Given the description of an element on the screen output the (x, y) to click on. 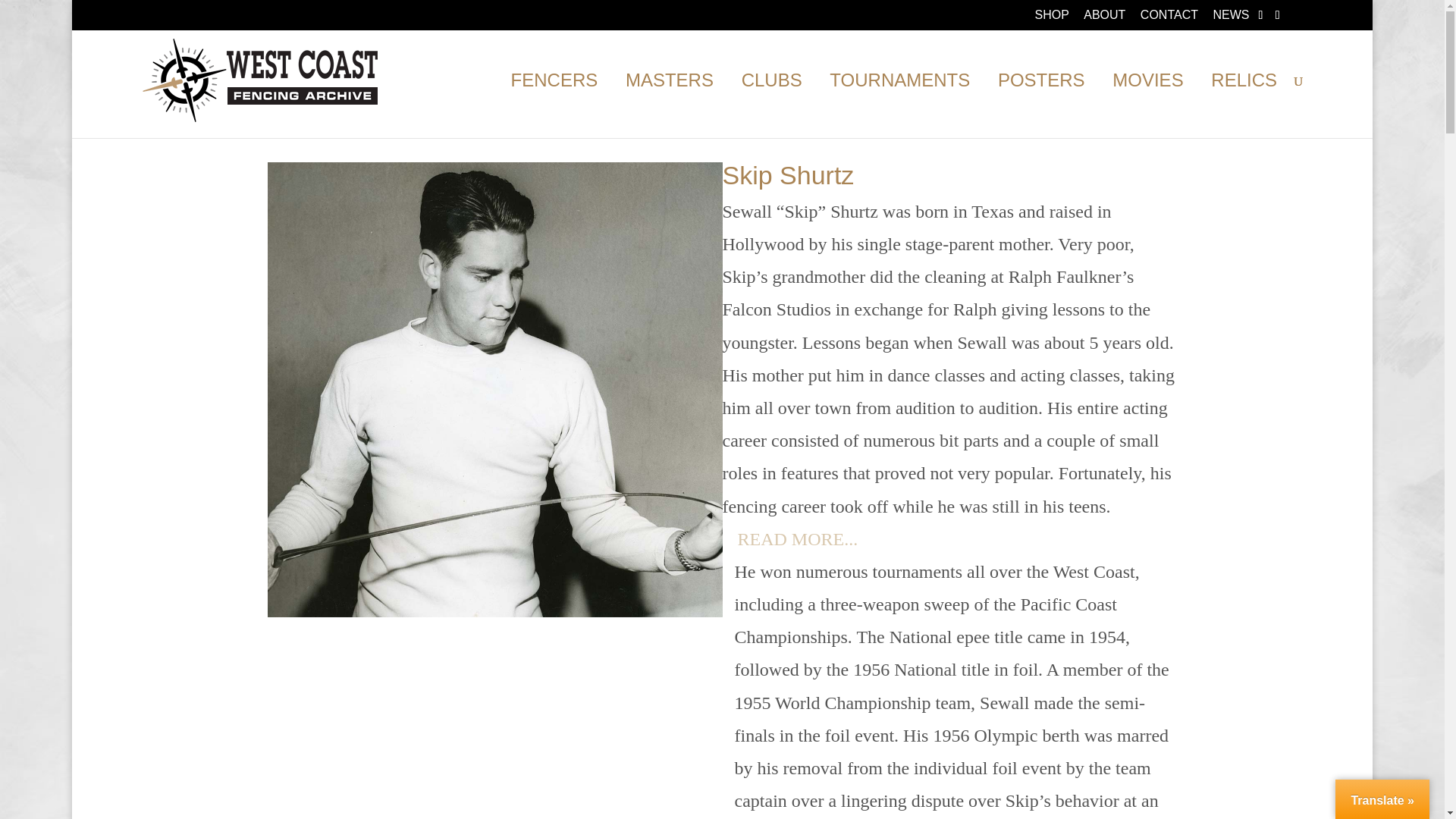
MASTERS (669, 106)
READ MORE... (789, 542)
POSTERS (1040, 106)
ABOUT (1104, 19)
CONTACT (1169, 19)
FENCERS (554, 106)
CLUBS (771, 106)
MOVIES (1147, 106)
TOURNAMENTS (899, 106)
NEWS (1230, 19)
SHOP (1050, 19)
RELICS (1243, 106)
